Given the description of an element on the screen output the (x, y) to click on. 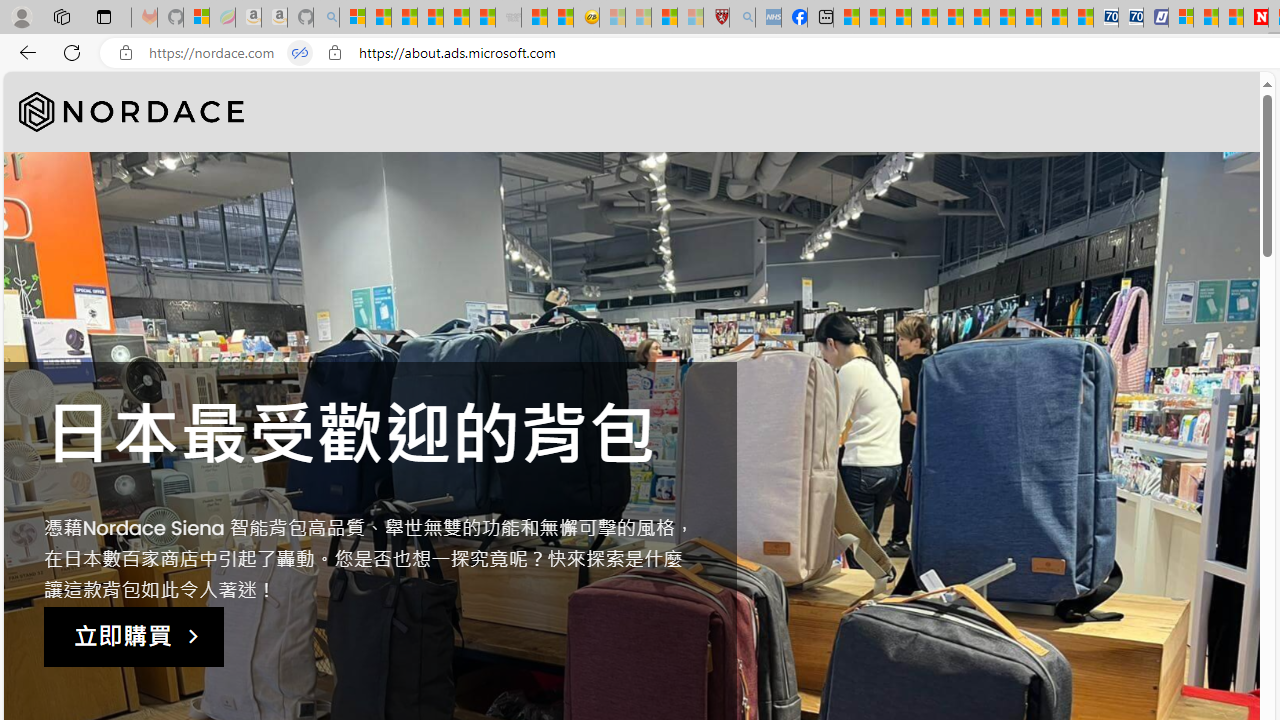
Combat Siege - Sleeping (507, 17)
